Given the description of an element on the screen output the (x, y) to click on. 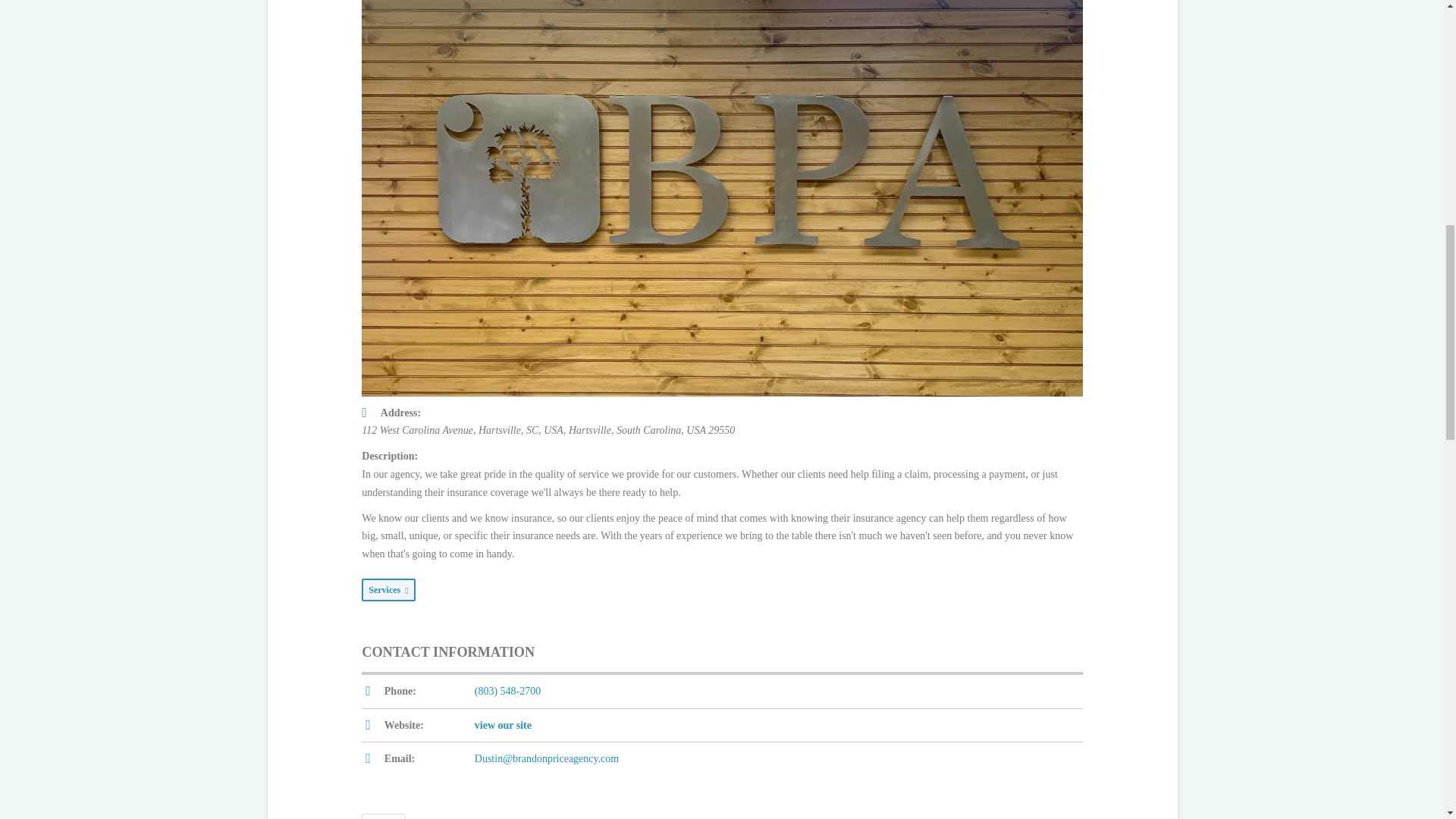
Report (433, 816)
view our site (502, 725)
Map (383, 816)
Services   (387, 589)
